Given the description of an element on the screen output the (x, y) to click on. 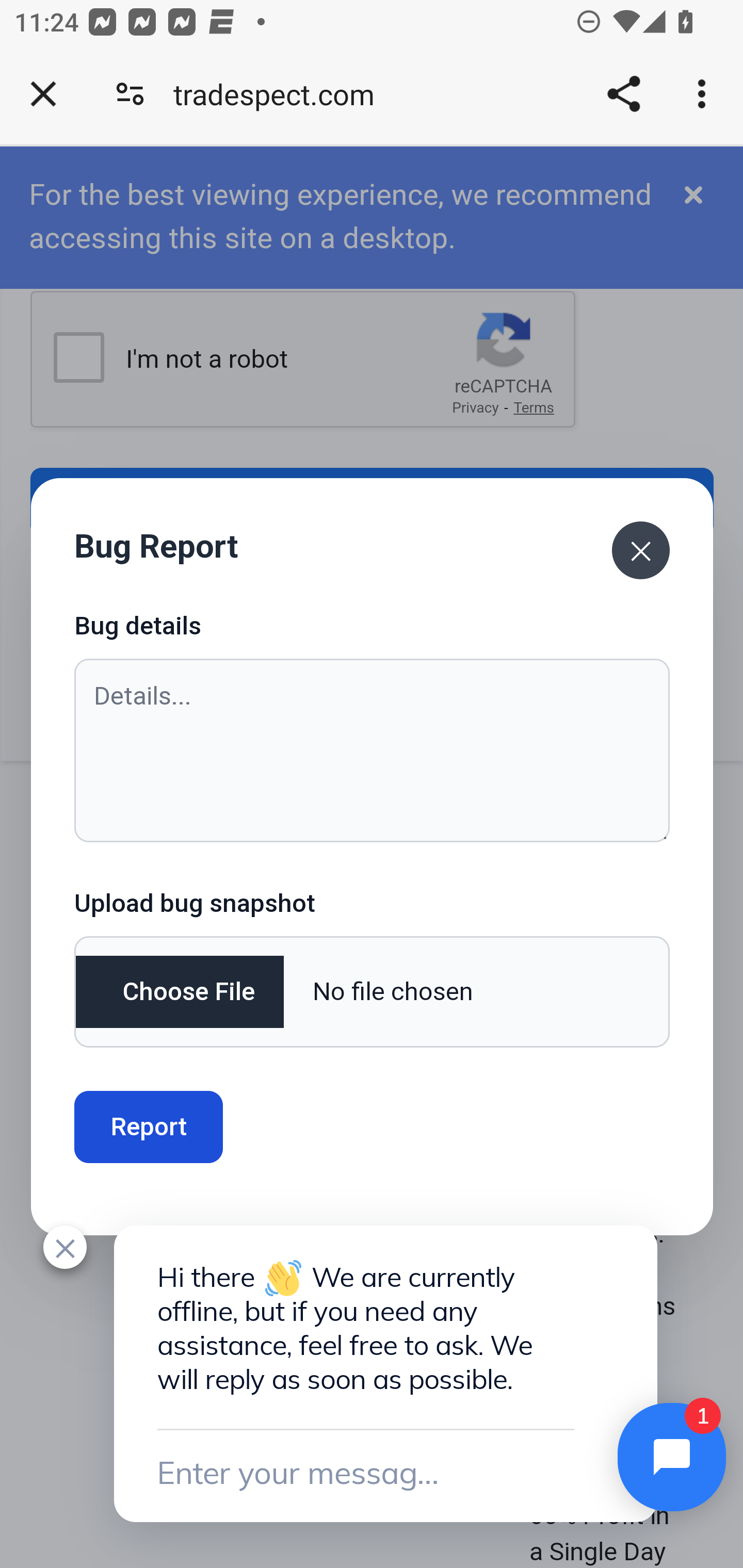
Close tab (43, 93)
Share (623, 93)
Customize and control Google Chrome (705, 93)
Connection is secure (129, 93)
tradespect.com (281, 93)
Upload bug snapshot: No file chosen (371, 992)
Report (148, 1126)
